Given the description of an element on the screen output the (x, y) to click on. 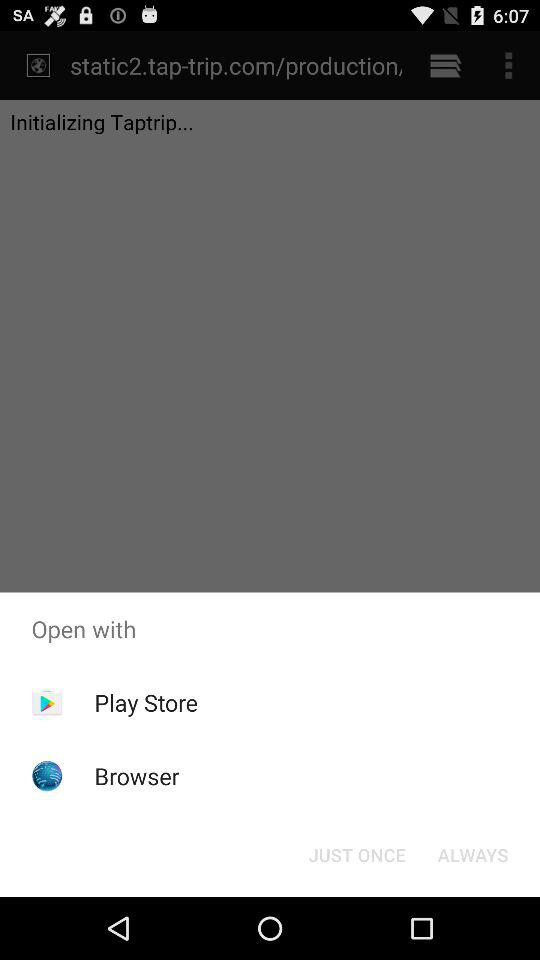
turn off the item at the bottom right corner (472, 854)
